Given the description of an element on the screen output the (x, y) to click on. 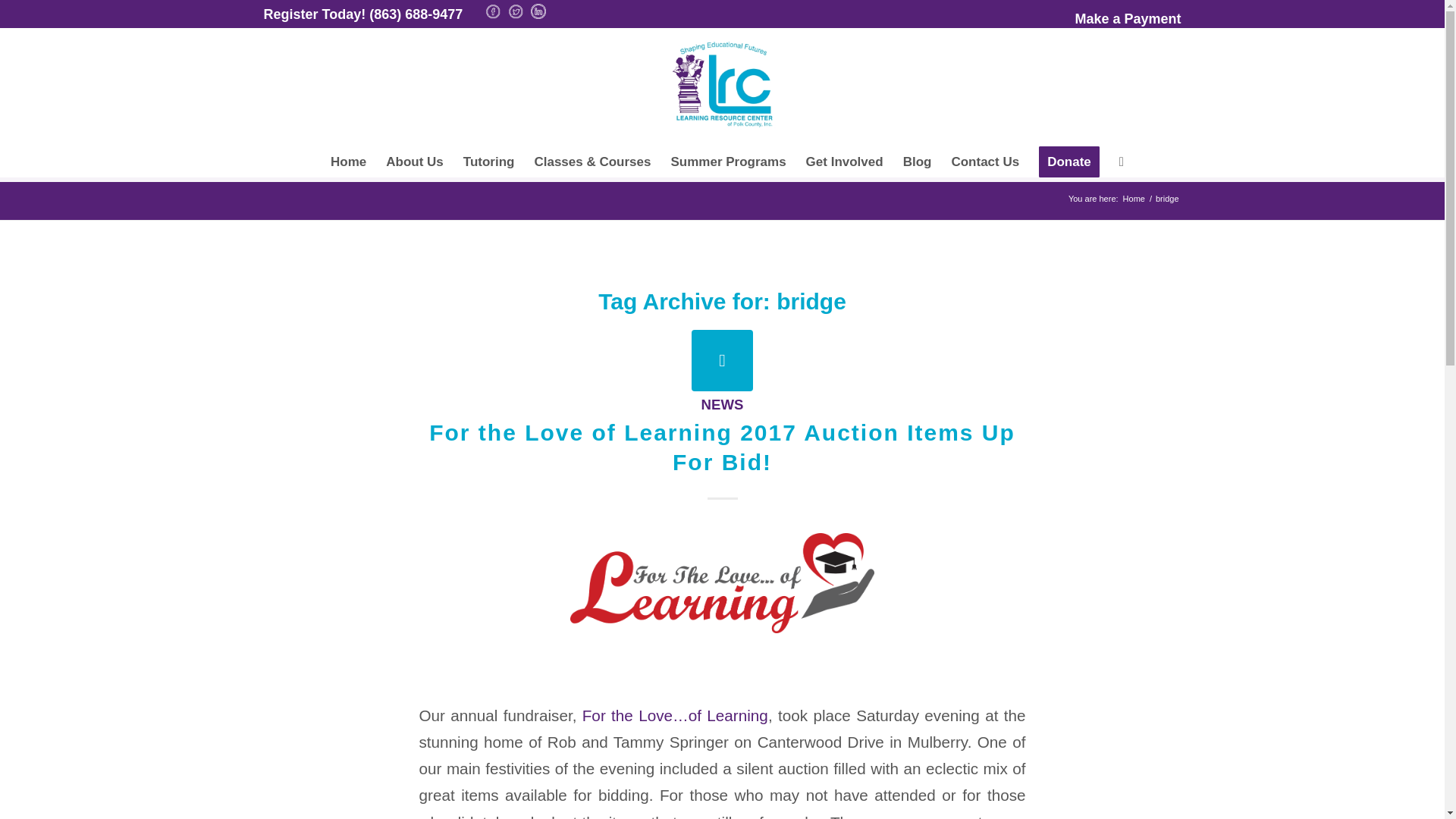
NEWS (722, 404)
Get Involved (844, 161)
Donate (1069, 161)
Learning Resource Center (1134, 198)
For the Love of Learning 2017 Auction Items Up For Bid! (721, 360)
Home (1134, 198)
Summer Programs (727, 161)
Tutoring (488, 161)
Home (347, 161)
Blog (917, 161)
LRC-stacked (721, 84)
About Us (413, 161)
Make a Payment (1127, 18)
For the Love of Learning 2017 Auction Items Up For Bid! (721, 447)
